Given the description of an element on the screen output the (x, y) to click on. 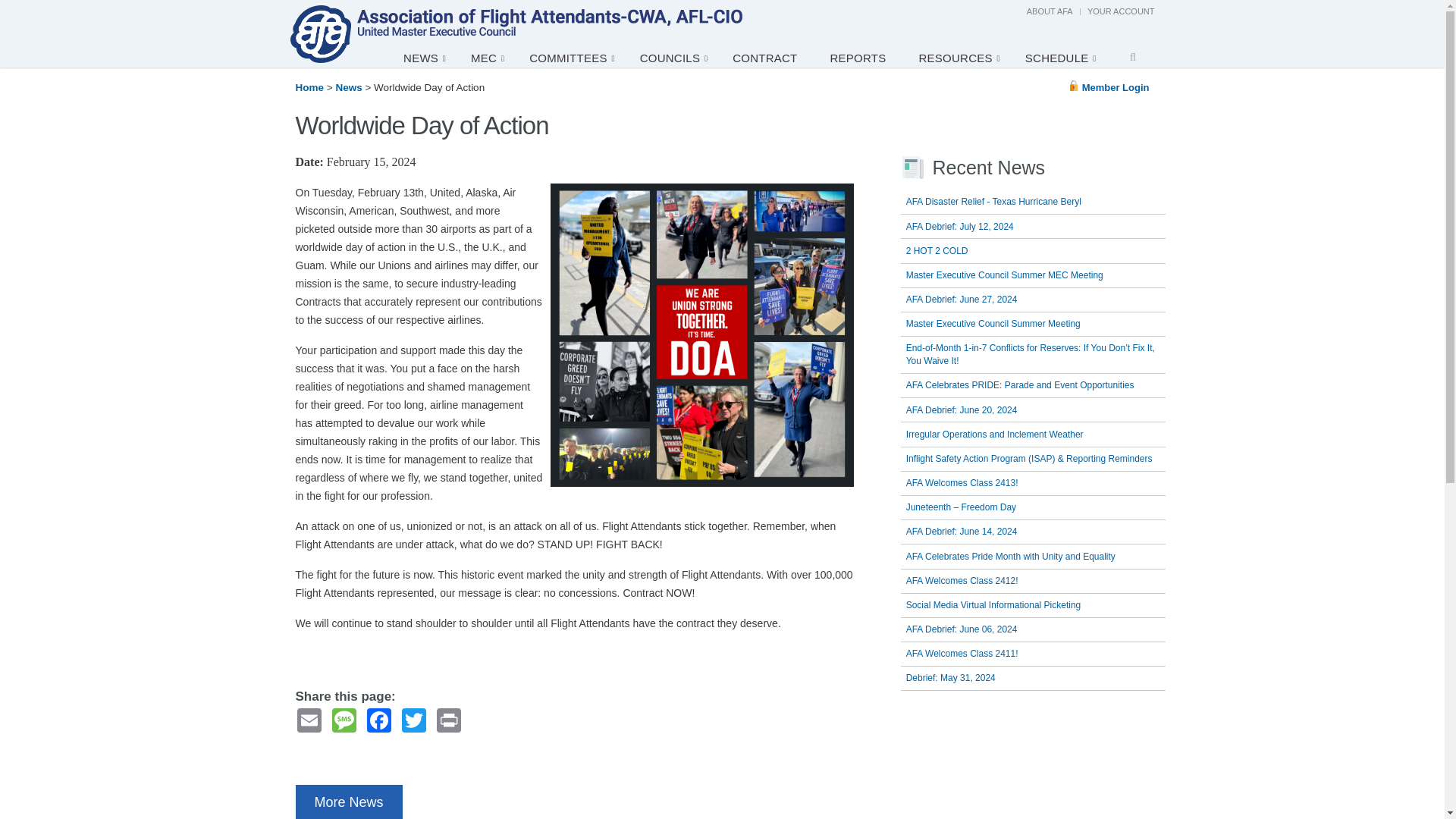
ABOUT AFA (1049, 10)
MEC (488, 57)
COMMITTEES (572, 57)
YOUR ACCOUNT (1120, 10)
NEWS (425, 57)
